Given the description of an element on the screen output the (x, y) to click on. 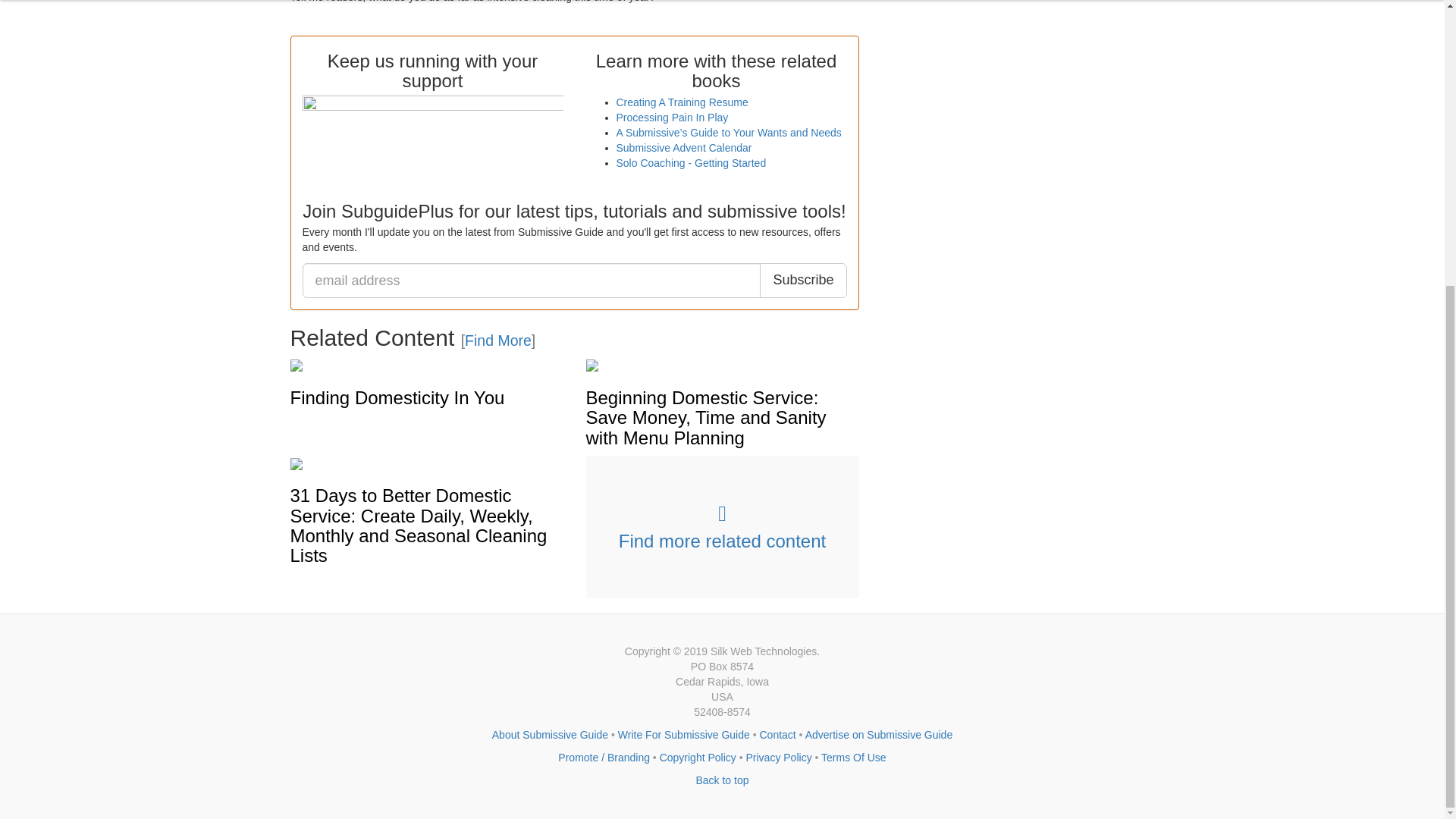
Processing Pain In Play (671, 117)
Finding Domesticity In You (396, 397)
Creating A Training Resume (681, 102)
Solo Coaching - Getting Started (690, 162)
Submissive Advent Calendar (683, 147)
Find More (497, 340)
Subscribe (802, 280)
Find more related content (722, 526)
